Given the description of an element on the screen output the (x, y) to click on. 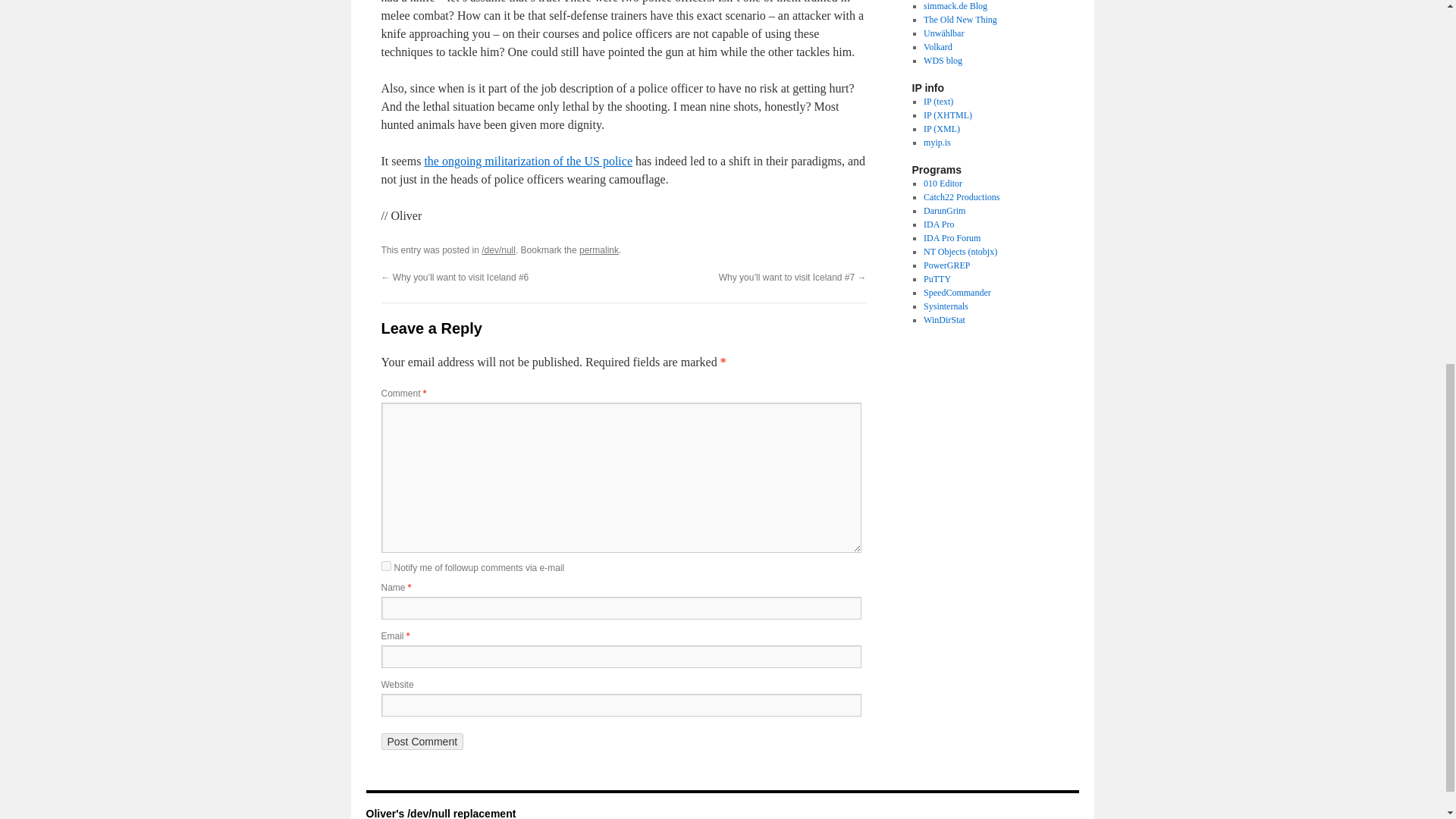
For me the best hex editor out there! (942, 183)
Post Comment (421, 741)
permalink (598, 249)
Another MSDN blog (960, 19)
Post Comment (421, 741)
the ongoing militarization of the US police (527, 160)
Permalink to Free to die (598, 249)
subscribe (385, 565)
IDA Pro discussion forum (951, 237)
